Given the description of an element on the screen output the (x, y) to click on. 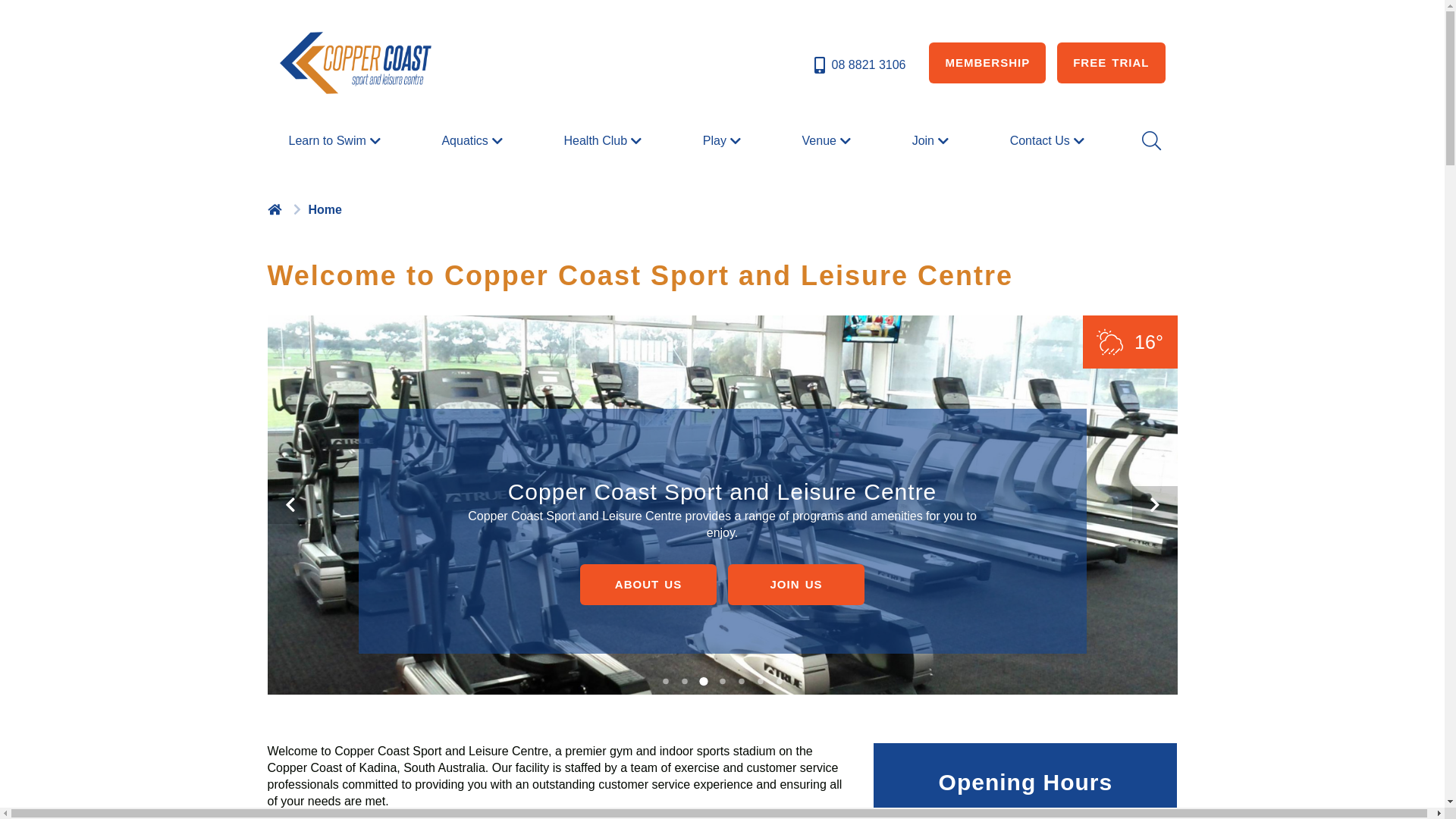
  Element type: text (275, 209)
Aquatics Element type: text (473, 140)
Learn to Swim Element type: text (335, 140)
Next Element type: text (1153, 505)
08 8821 3106 Element type: text (858, 65)
Venue Element type: text (828, 140)
Health Club Element type: text (604, 140)
Search Element type: text (1150, 141)
Prev Element type: text (289, 505)
LEARN MORE Element type: text (721, 584)
Contact Us Element type: text (1049, 140)
MEMBERSHIP Element type: text (986, 62)
Join Element type: text (932, 140)
Play Element type: text (723, 140)
FREE TRIAL Element type: text (1110, 62)
